Given the description of an element on the screen output the (x, y) to click on. 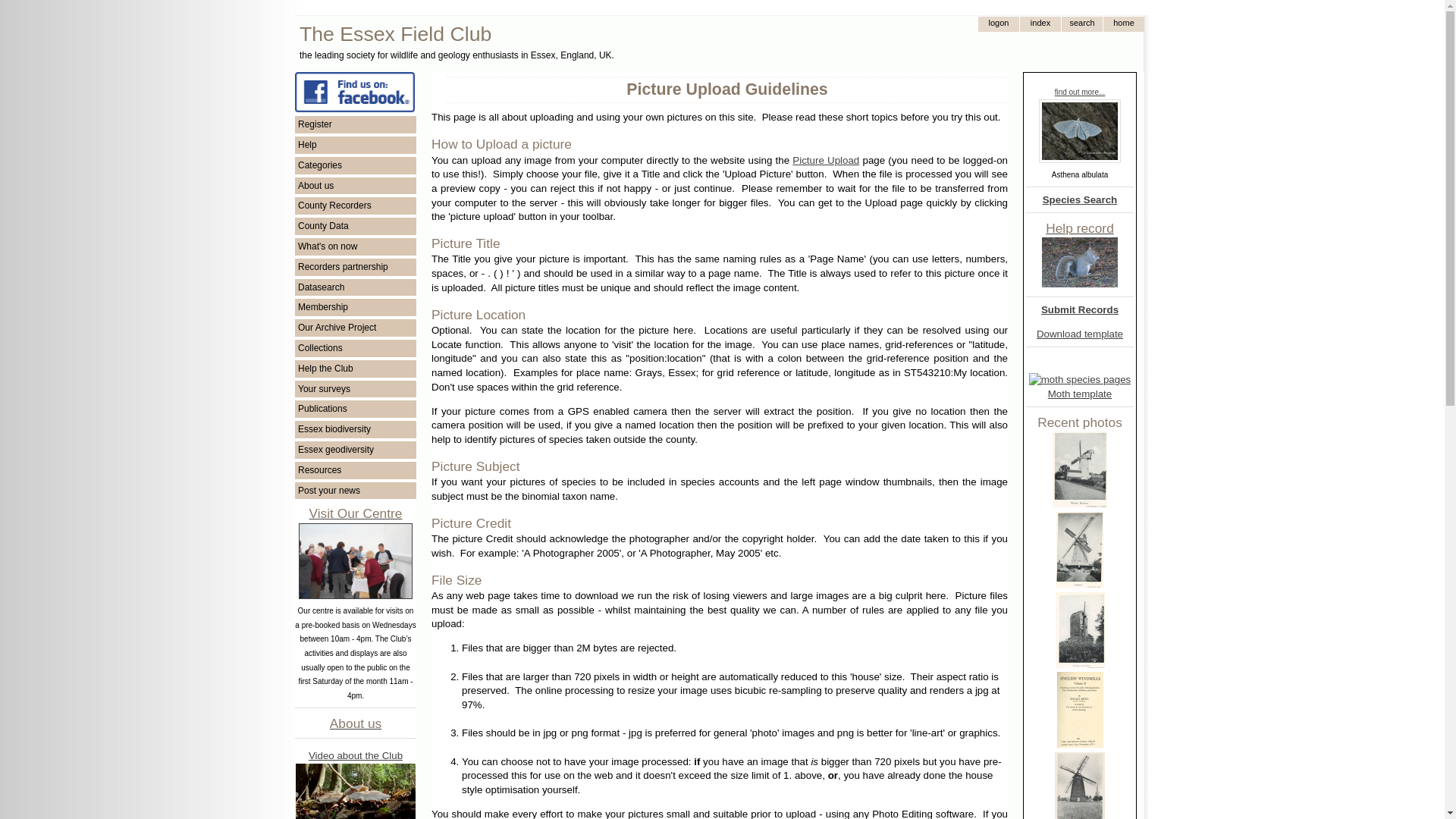
logon (997, 23)
moth species pages (1080, 380)
EFC Centre at Wat Tyler Country Park (355, 561)
home (1123, 23)
Help record now ...... (1080, 262)
search (1081, 23)
logon (997, 23)
Index (1040, 23)
Index (1040, 23)
search (1081, 23)
